Given the description of an element on the screen output the (x, y) to click on. 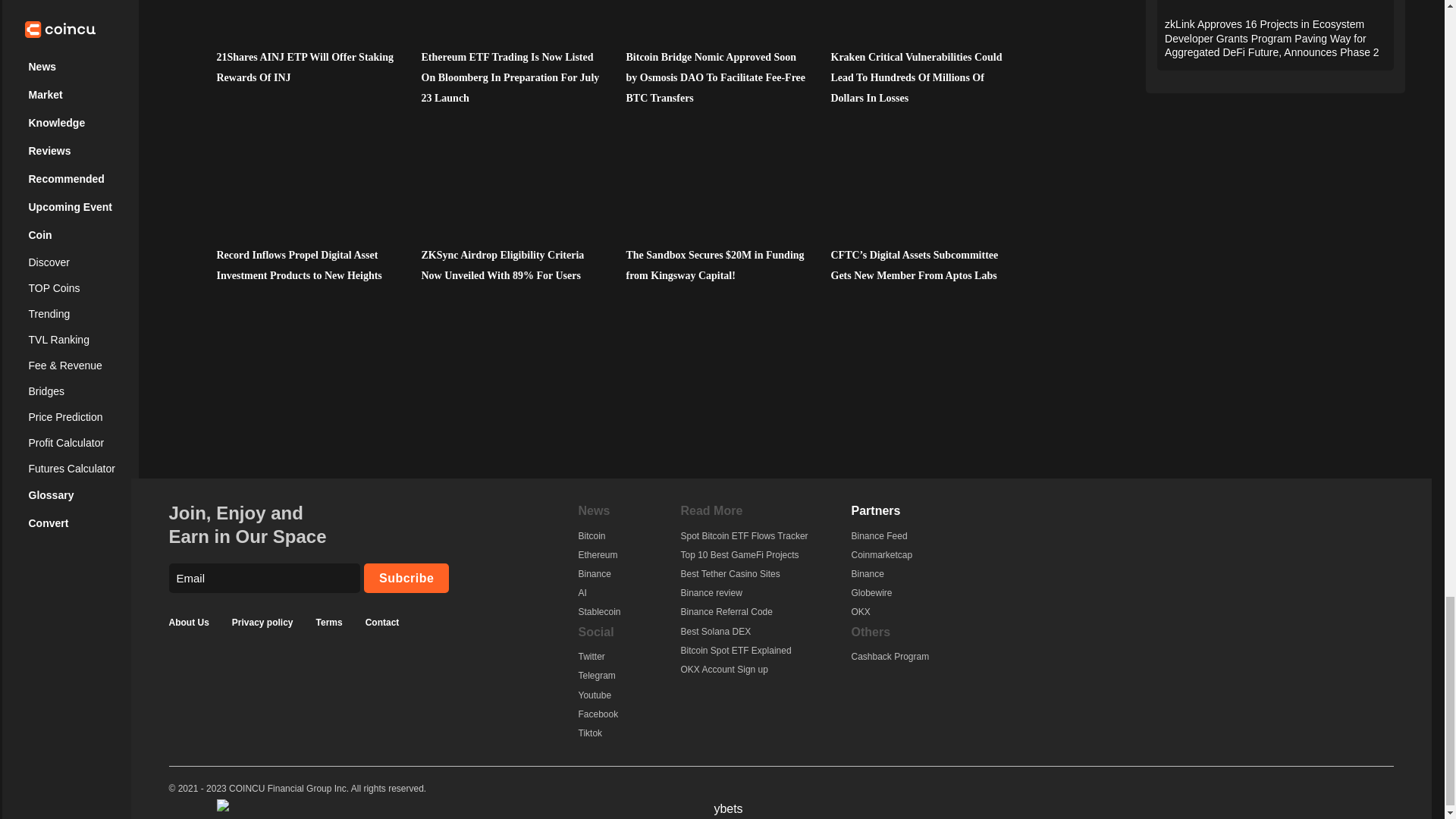
Subcribe (406, 577)
